Given the description of an element on the screen output the (x, y) to click on. 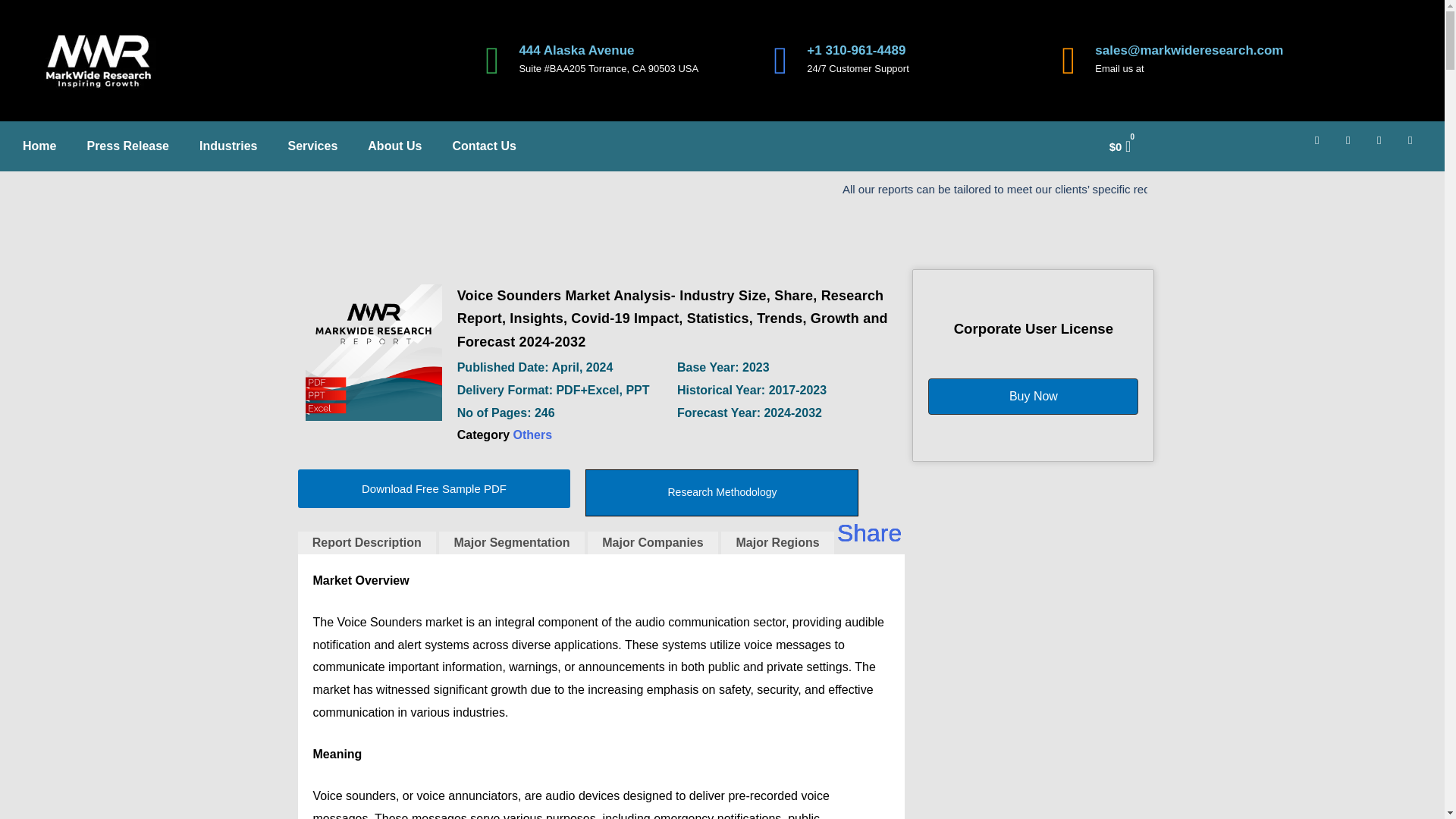
Markwide Research (372, 352)
Research Methodology (722, 492)
Linkedin-in (1353, 146)
Press Release (127, 145)
Contact Us (483, 145)
Industries (228, 145)
Services (312, 145)
About Us (394, 145)
Facebook-f (1322, 146)
Home (39, 145)
